Given the description of an element on the screen output the (x, y) to click on. 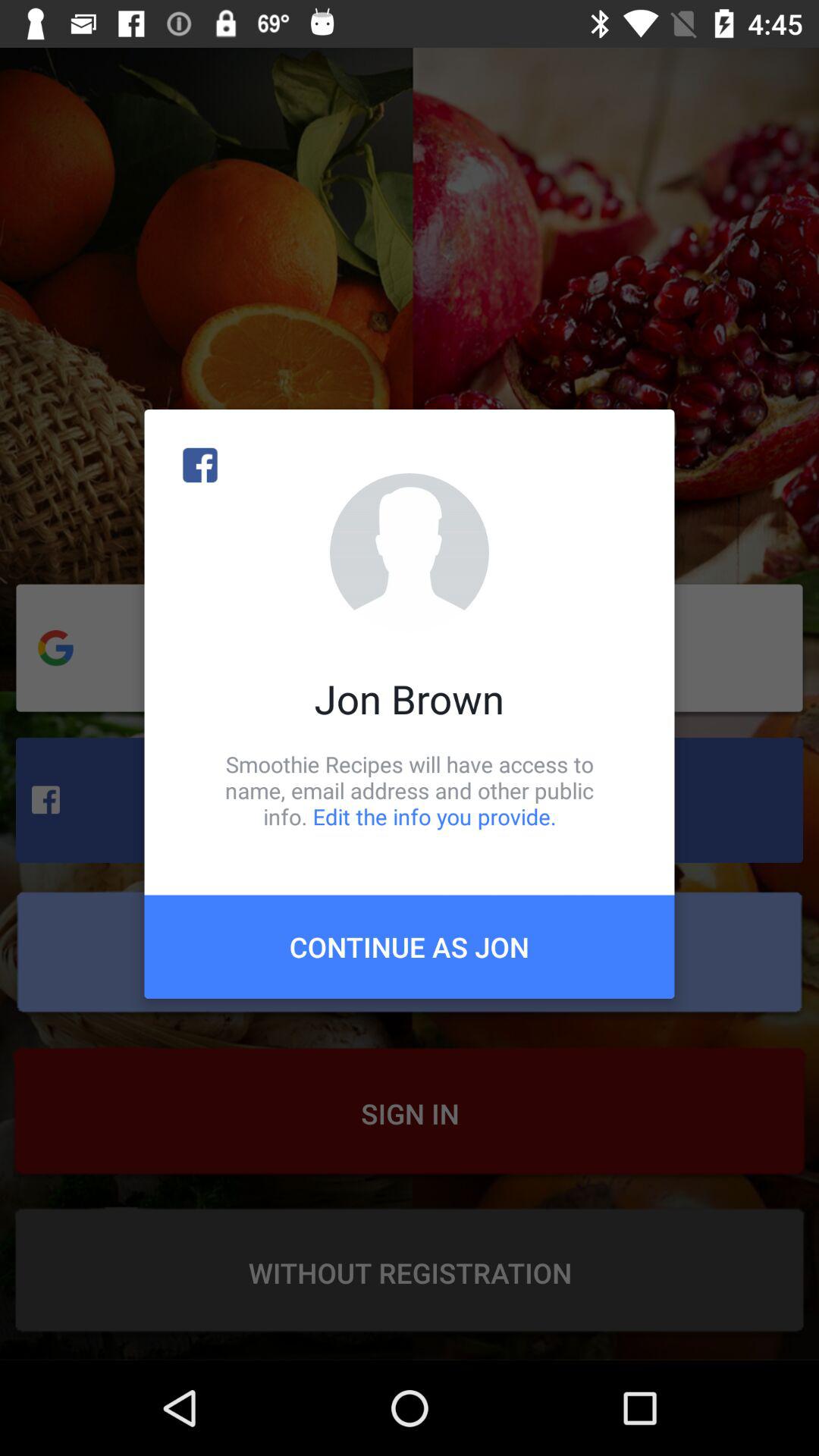
launch the smoothie recipes will item (409, 790)
